Given the description of an element on the screen output the (x, y) to click on. 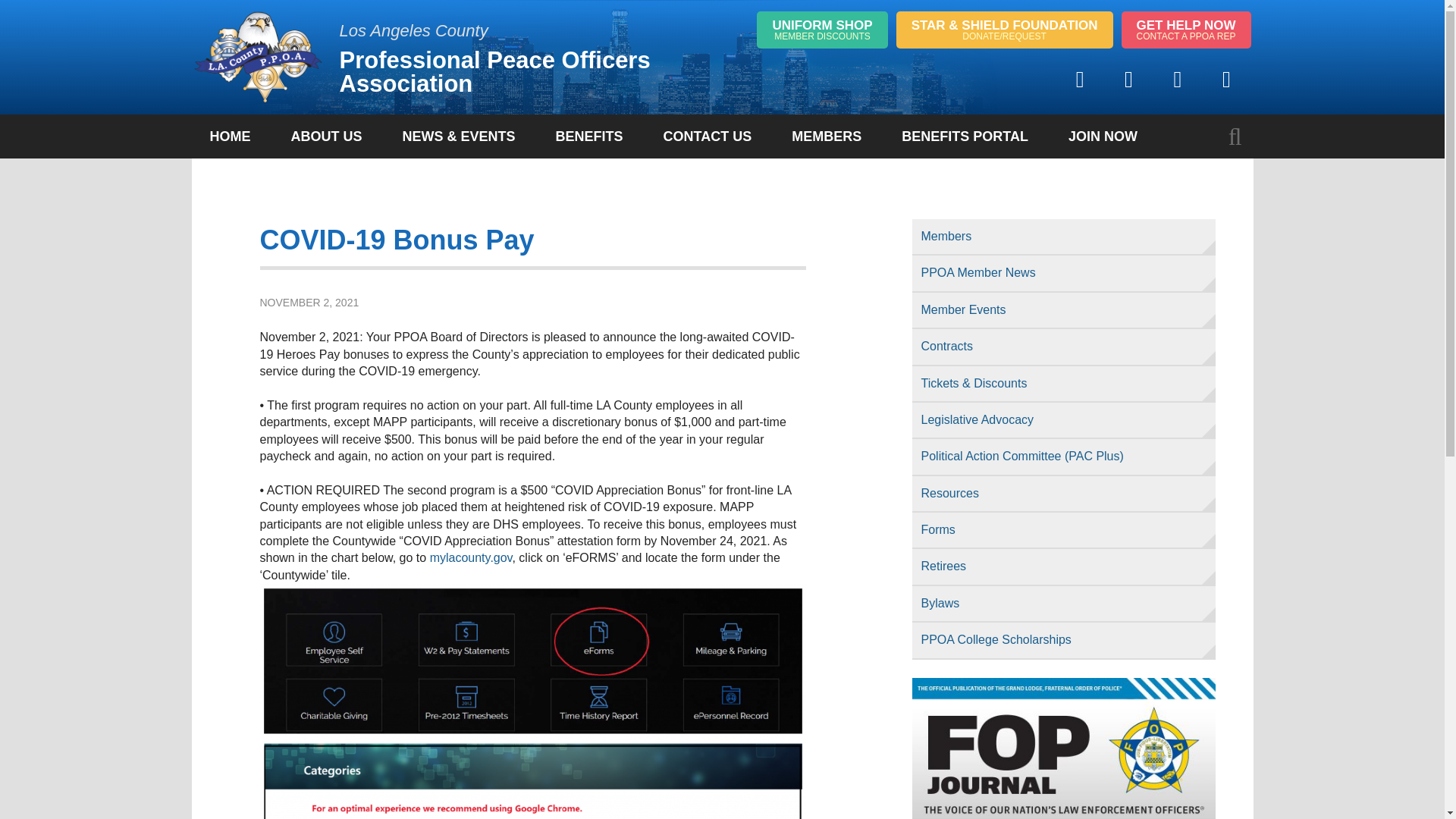
Facebook (1080, 79)
Twitter (1128, 79)
YouTube (1225, 79)
Instagram (1177, 79)
ABOUT US (1185, 29)
HOME (821, 29)
Skip to primary navigation (523, 57)
